Given the description of an element on the screen output the (x, y) to click on. 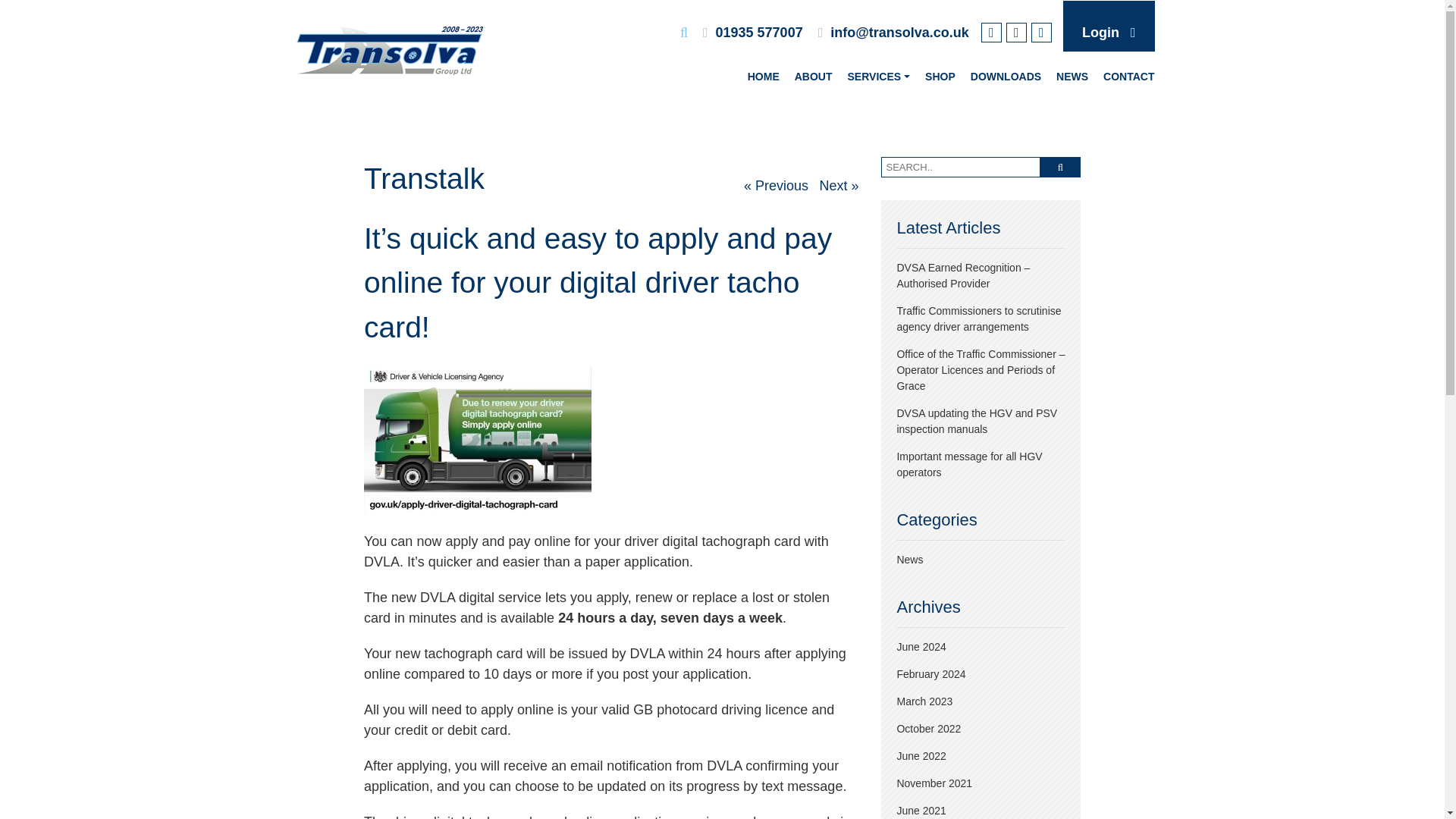
Login (1100, 32)
HOME (763, 77)
01935 577007 (759, 32)
